Given the description of an element on the screen output the (x, y) to click on. 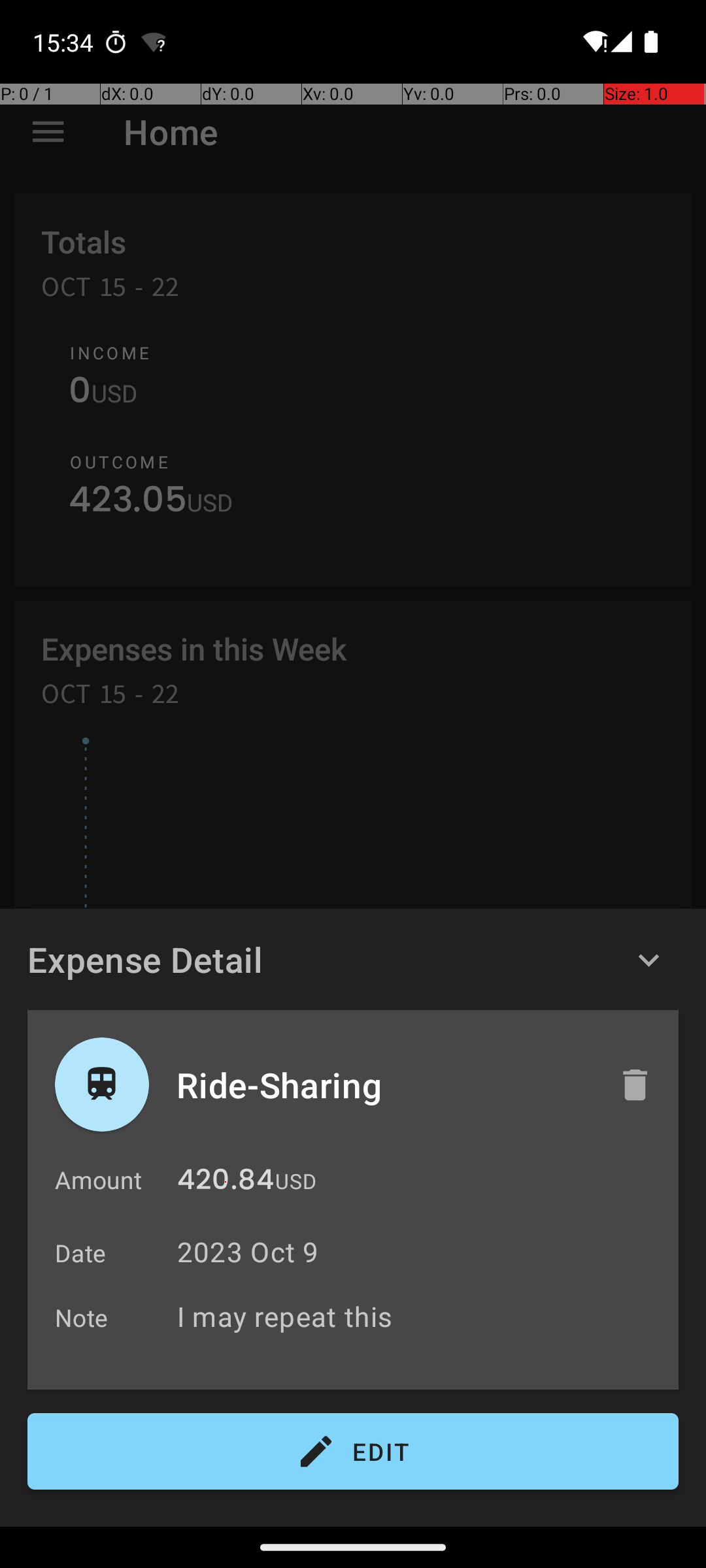
Ride-Sharing Element type: android.widget.TextView (383, 1084)
420.84 Element type: android.widget.TextView (225, 1182)
2023 Oct 9 Element type: android.widget.TextView (247, 1251)
Android System notification: AndroidWifi has limited connectivity Element type: android.widget.ImageView (153, 41)
Wifi signal full.,No internet Element type: android.widget.FrameLayout (593, 41)
